Given the description of an element on the screen output the (x, y) to click on. 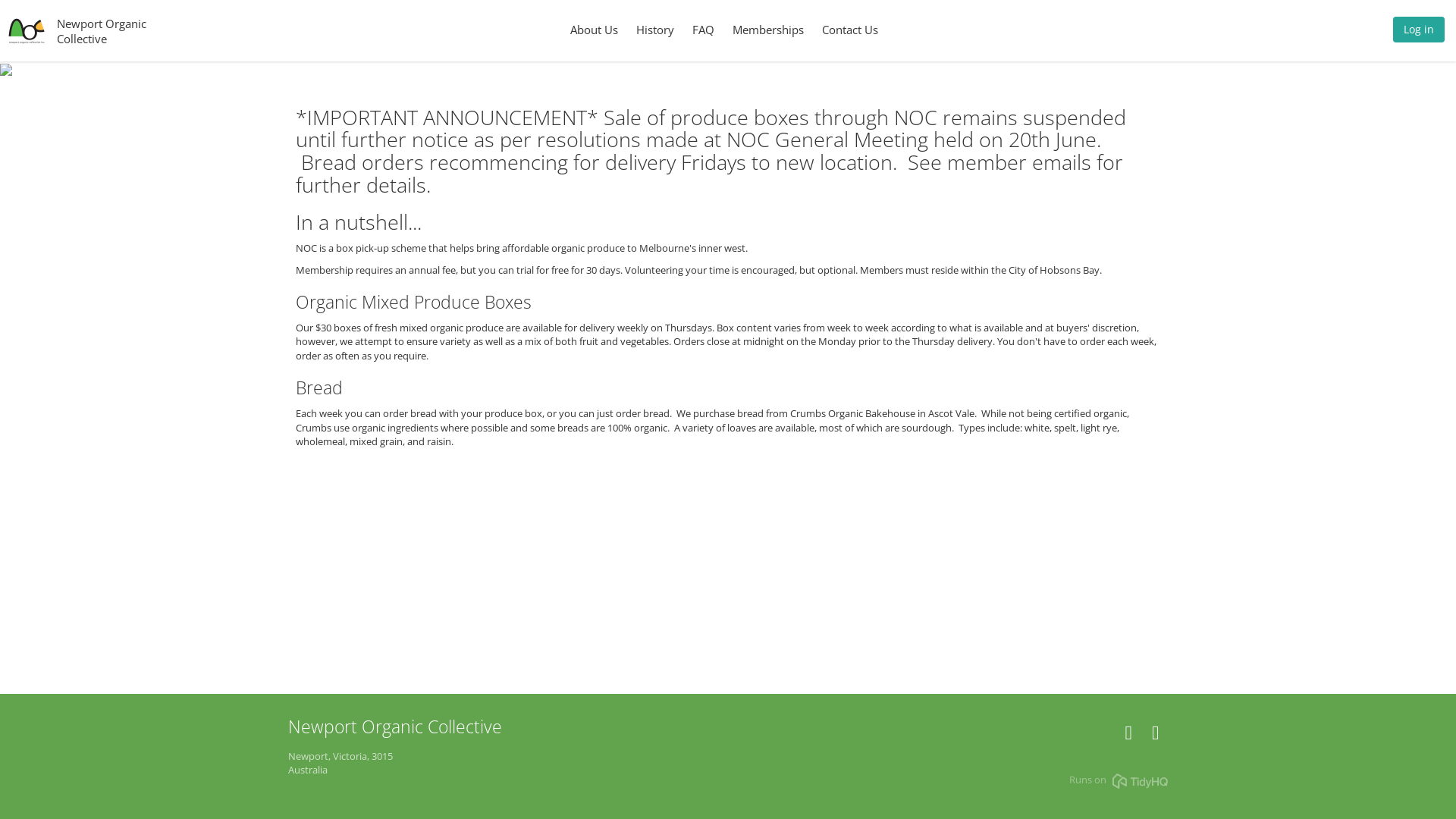
http://www.newportorganiccollective.org.au Element type: hover (1128, 735)
Memberships Element type: text (767, 29)
Newport Organic Collective Element type: text (101, 30)
History Element type: text (654, 29)
About Us Element type: text (593, 29)
NOC3015 Element type: hover (1155, 735)
Log in Element type: text (1418, 32)
FAQ Element type: text (702, 29)
Contact Us Element type: text (849, 29)
